Given the description of an element on the screen output the (x, y) to click on. 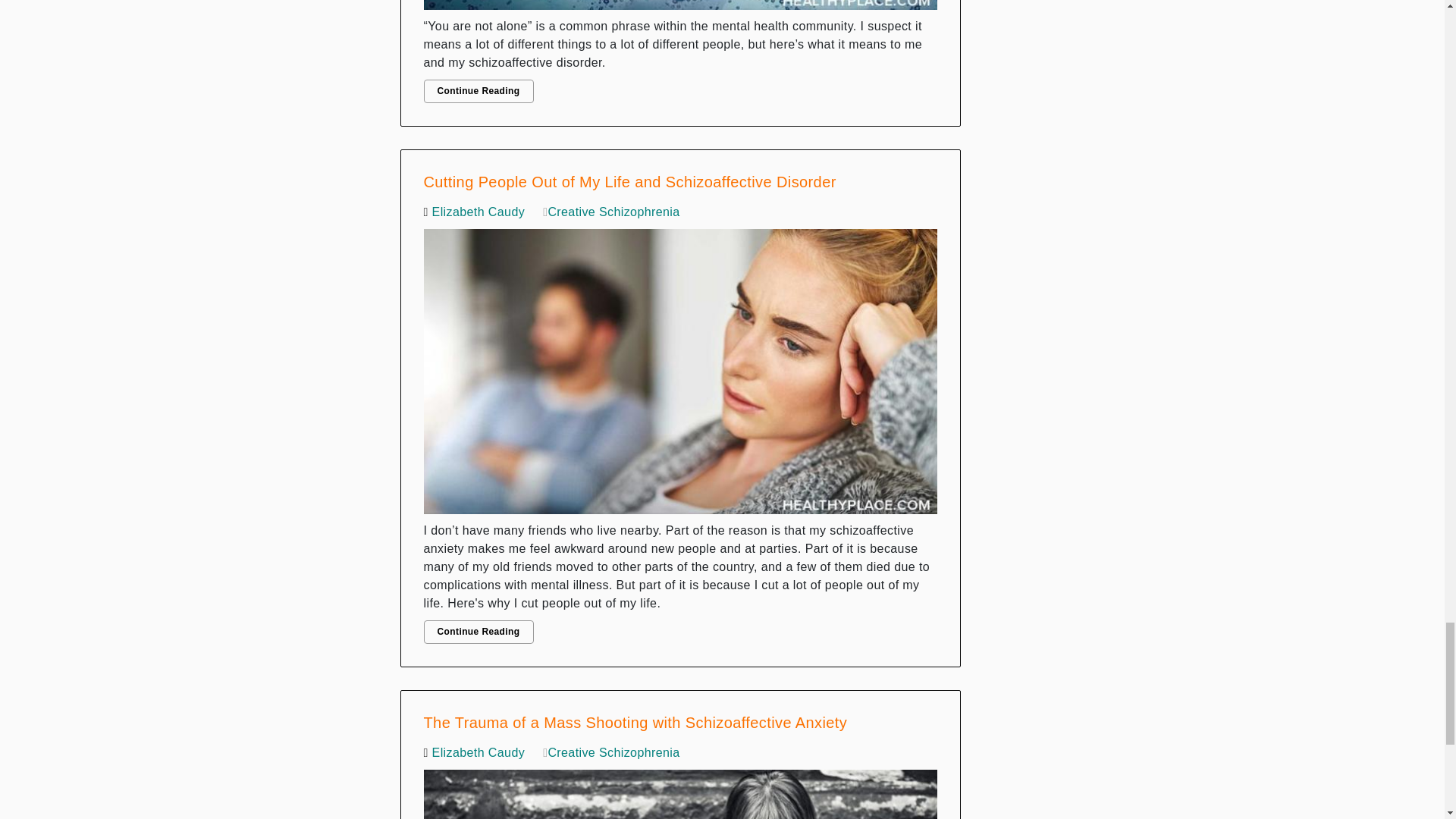
What 'You Are Not Alone' Means to This Schizoaffective (680, 8)
The Trauma of a Mass Shooting with Schizoaffective Anxiety (680, 790)
